Given the description of an element on the screen output the (x, y) to click on. 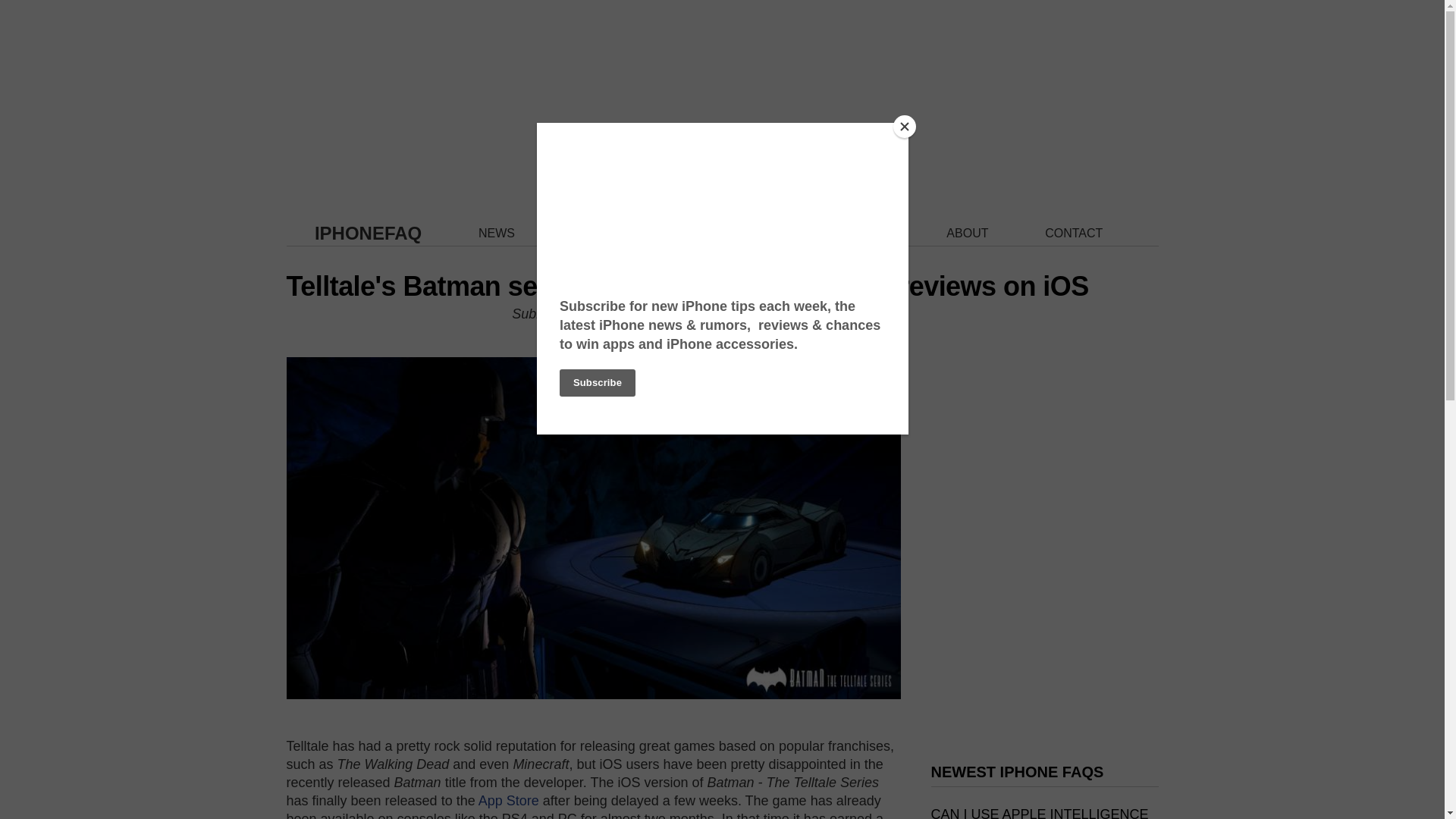
Search all our iPhone and iOS articles and FAQs. (864, 232)
IPHONEFAQ (368, 232)
3rd party ad content (1044, 635)
FAQ (583, 232)
Tips on how to make the most of your iPhone or iOS device. (769, 232)
CONTACT (1073, 232)
The latest iPhone and iOS related news. (497, 232)
Contact us with your questions or comments. (1073, 232)
3rd party ad content (1044, 422)
TIPS (769, 232)
ABOUT (967, 232)
SEARCH (864, 232)
GUIDES (675, 232)
NEWS (497, 232)
